Given the description of an element on the screen output the (x, y) to click on. 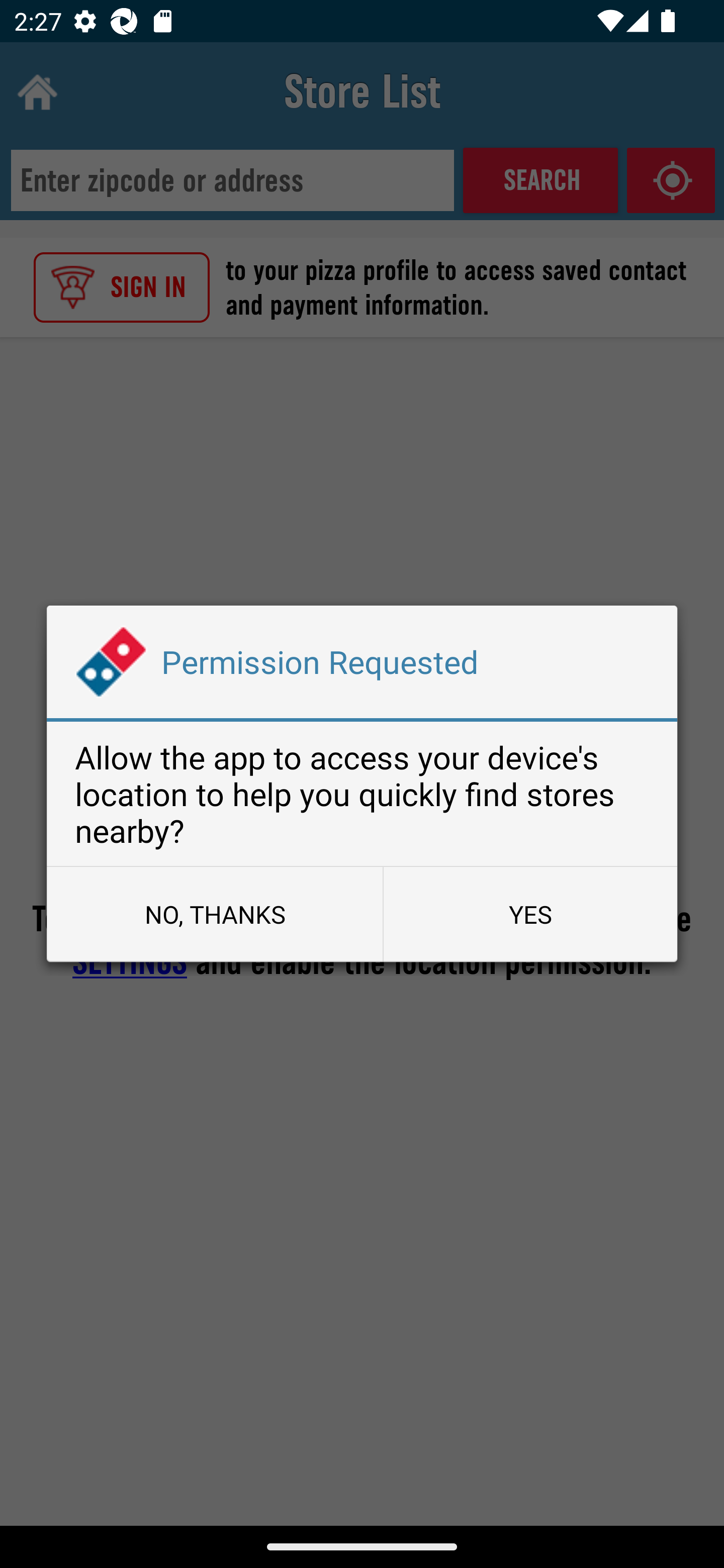
NO, THANKS (214, 914)
YES (529, 914)
